Given the description of an element on the screen output the (x, y) to click on. 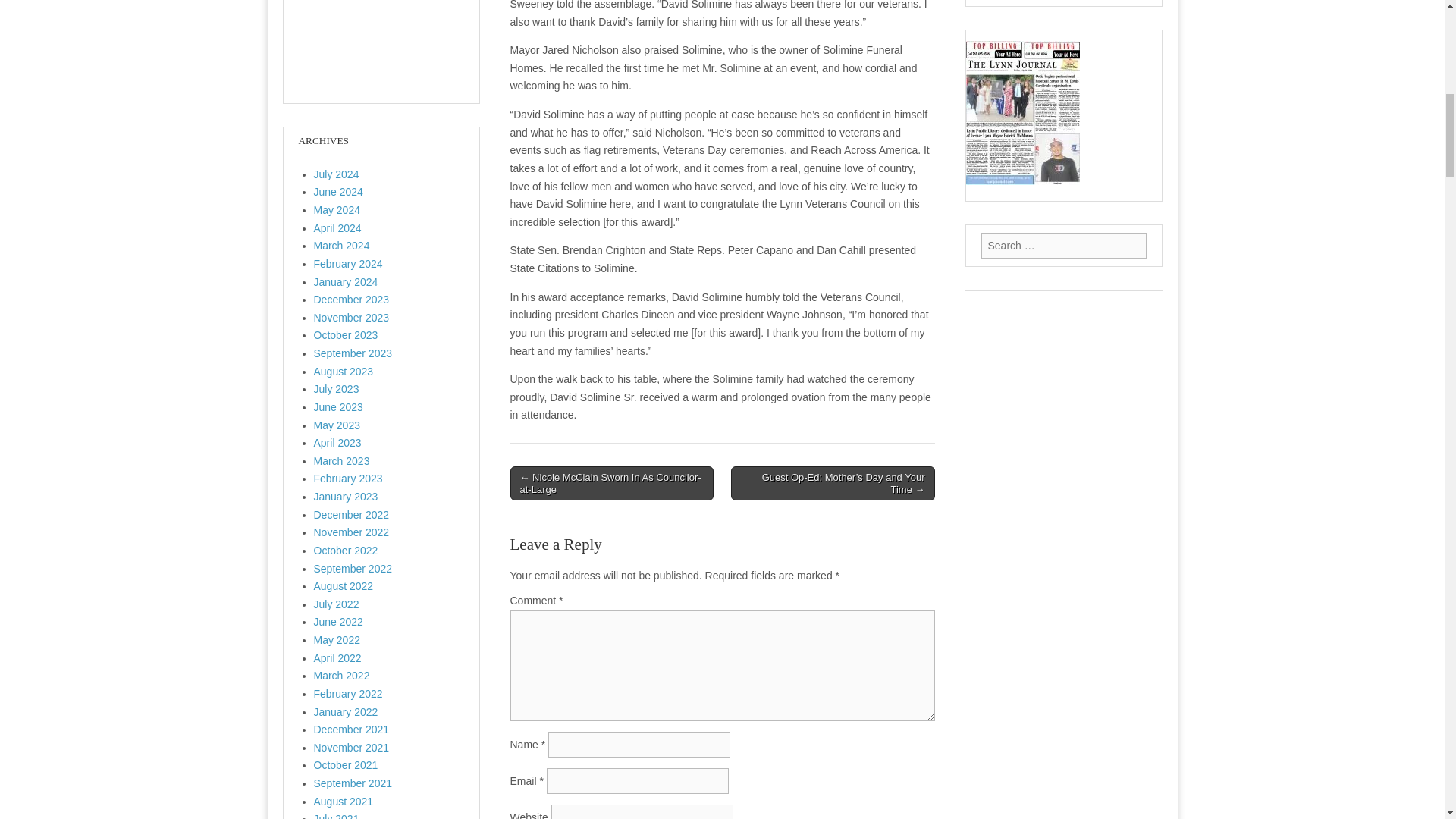
February 2024 (348, 263)
January 2024 (346, 282)
December 2023 (352, 299)
May 2024 (336, 209)
June 2024 (338, 191)
April 2024 (337, 227)
March 2024 (341, 245)
July 2024 (336, 174)
